Given the description of an element on the screen output the (x, y) to click on. 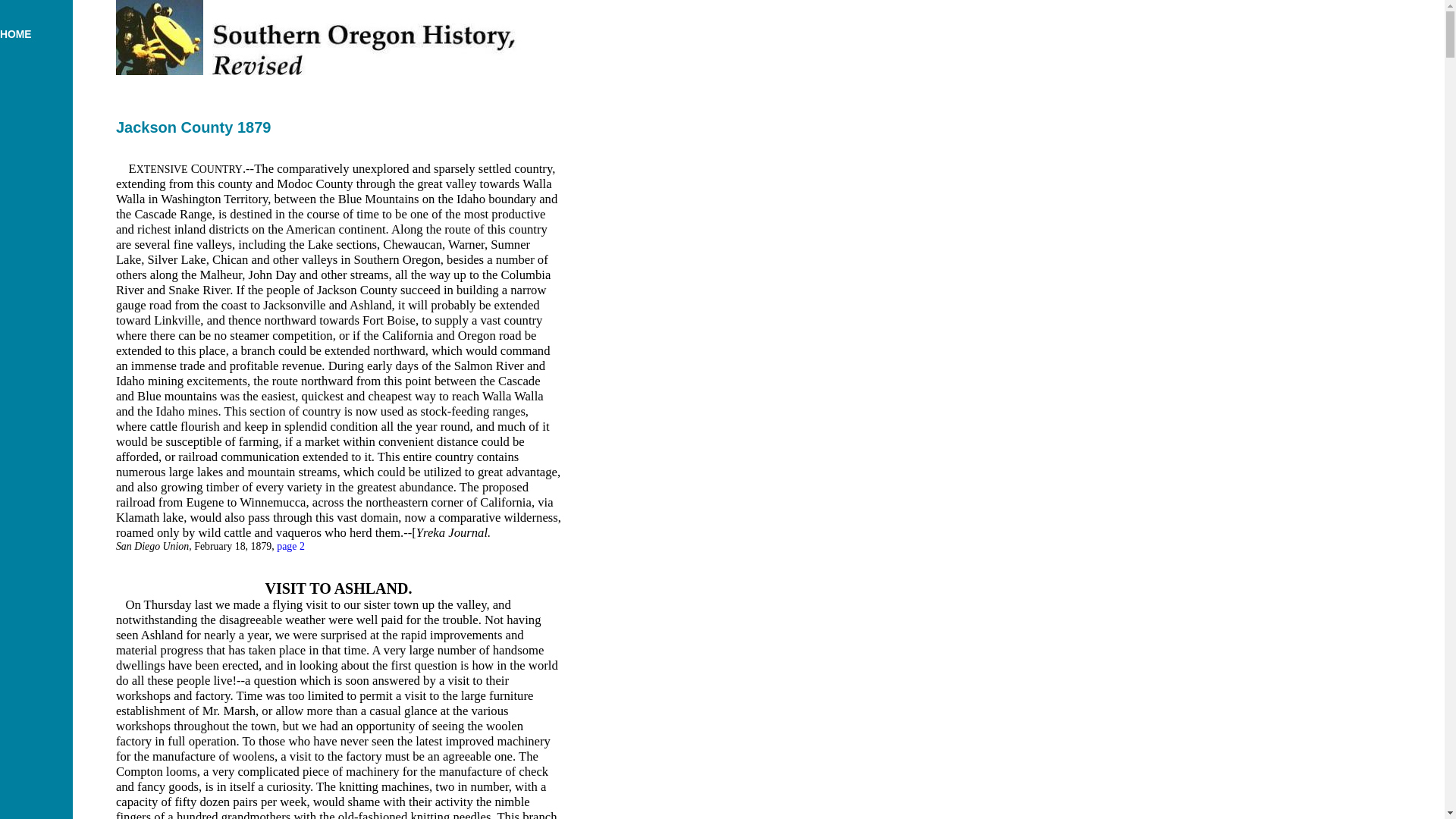
HOME (16, 33)
page 2 (290, 546)
